Given the description of an element on the screen output the (x, y) to click on. 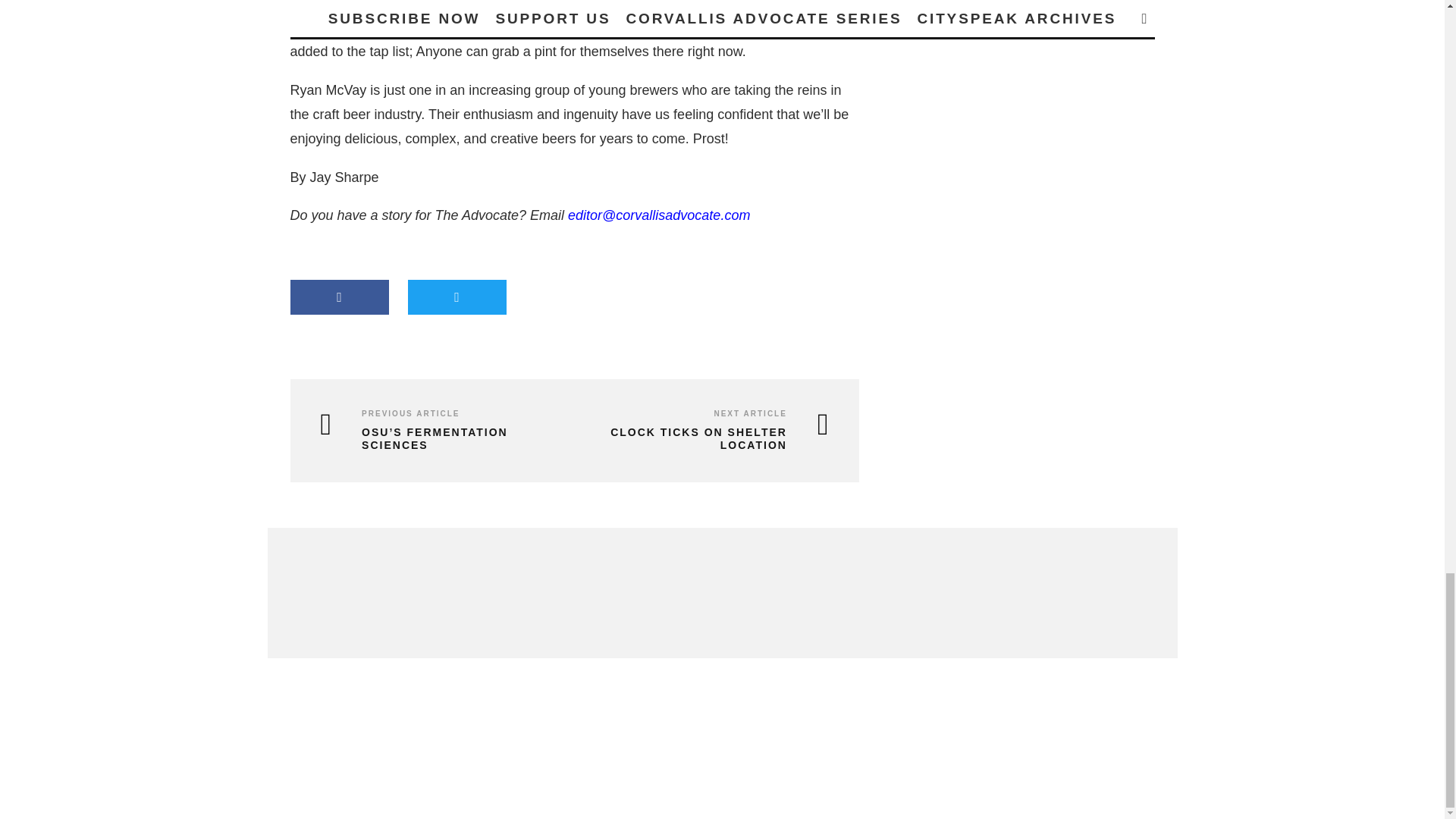
PREVIOUS ARTICLE (410, 413)
CLOCK TICKS ON SHELTER LOCATION (705, 438)
NEXT ARTICLE (749, 413)
